Given the description of an element on the screen output the (x, y) to click on. 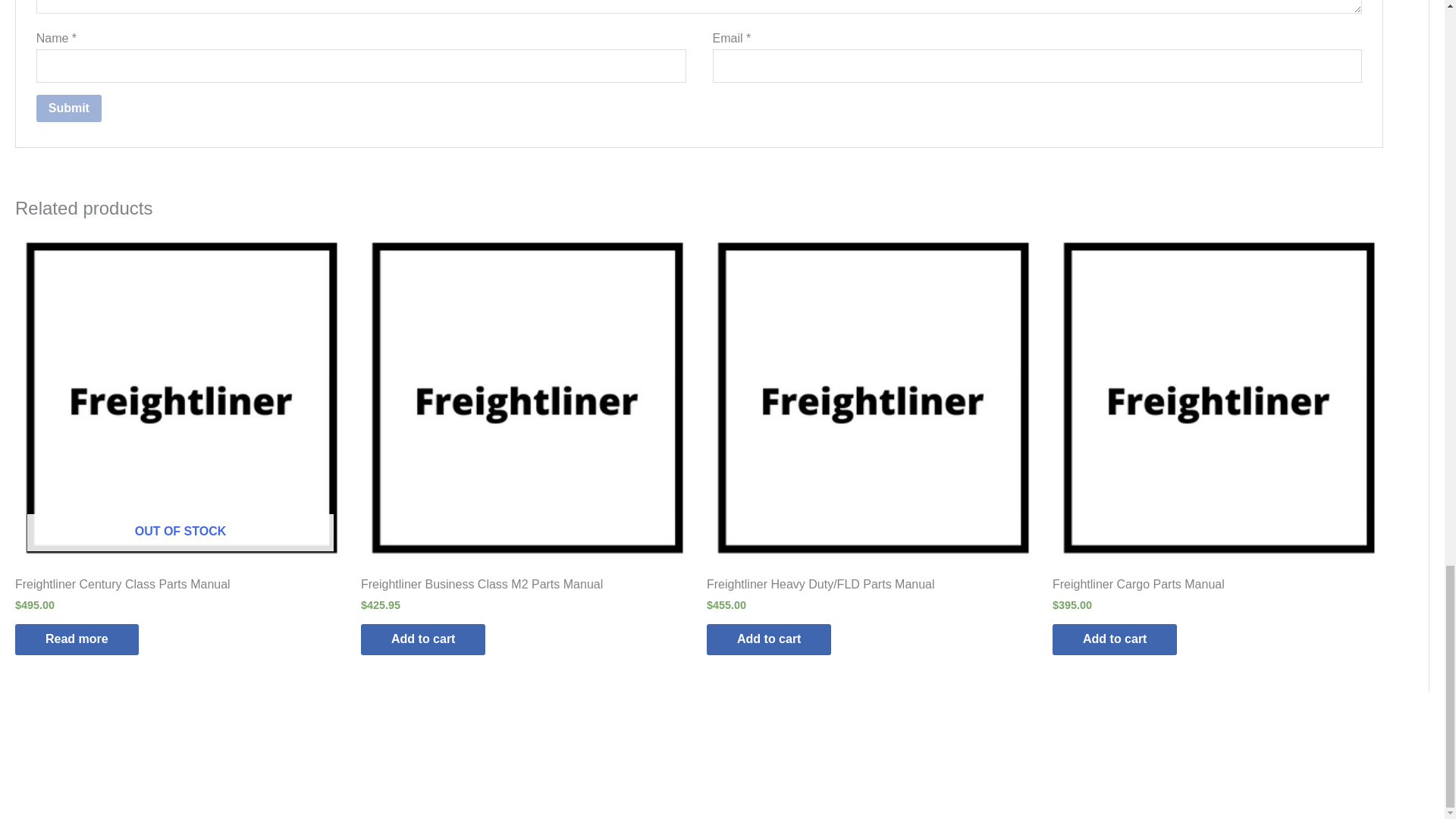
Add to cart (422, 639)
Submit (68, 108)
OUT OF STOCK (180, 397)
Freightliner Business Class M2 Parts Manual (526, 587)
Freightliner Century Class Parts Manual (180, 587)
Add to cart (1114, 639)
Read more (76, 639)
Submit (68, 108)
Add to cart (768, 639)
Freightliner Cargo Parts Manual (1217, 587)
